Given the description of an element on the screen output the (x, y) to click on. 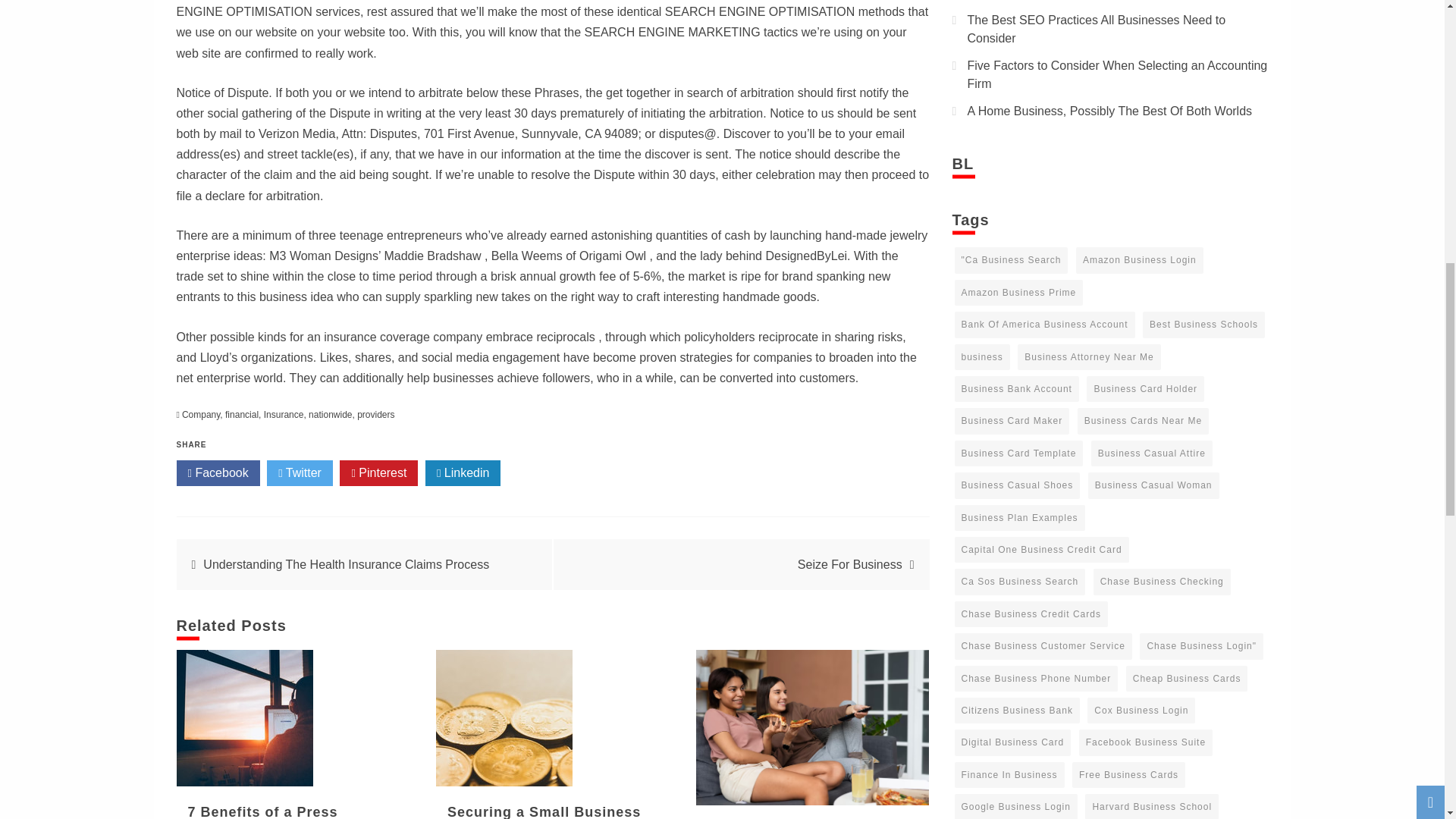
Securing a Small Business Loan (543, 811)
Insurance (283, 414)
7 Benefits of a Press Release for Every Business (287, 811)
Booming: Television News Channels in India (812, 727)
Linkedin (462, 473)
Company (200, 414)
Twitter (299, 473)
7 Benefits of a Press Release for Every Business (244, 718)
Securing a Small Business Loan (503, 718)
providers (375, 414)
